Given the description of an element on the screen output the (x, y) to click on. 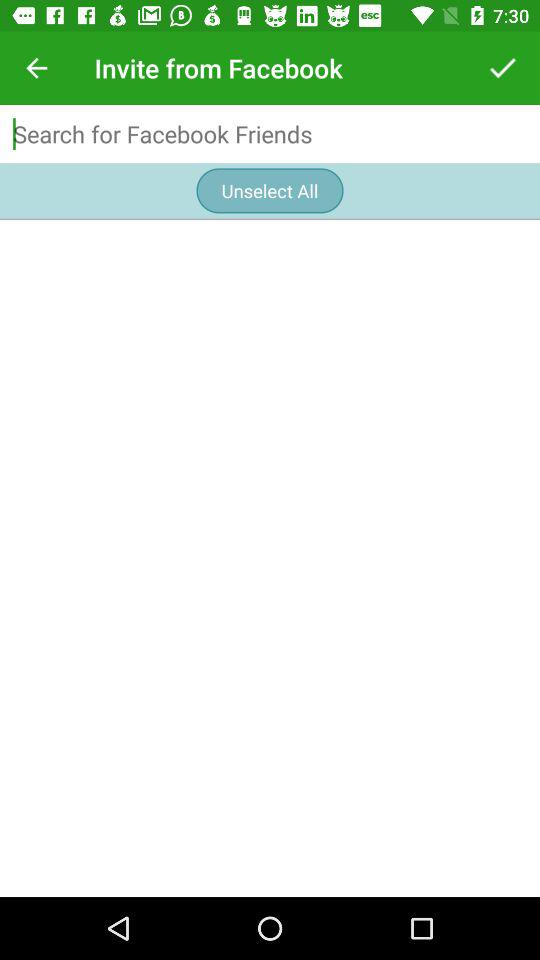
type for search functions (269, 134)
